Given the description of an element on the screen output the (x, y) to click on. 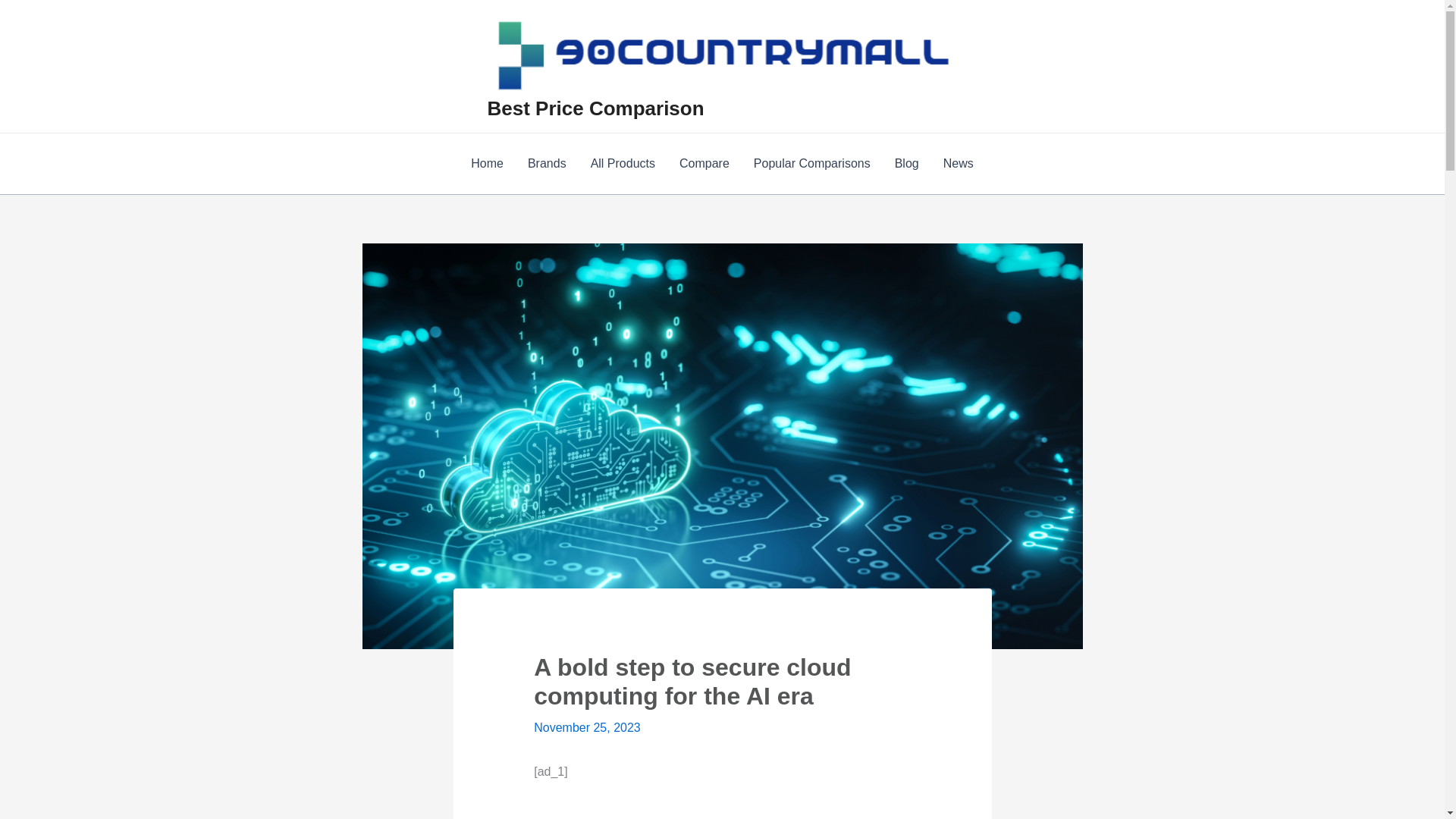
Popular Comparisons (811, 163)
Compare (703, 163)
News (958, 163)
Home (486, 163)
Audio Article (722, 810)
Blog (906, 163)
Best Price Comparison (594, 108)
All Products (622, 163)
Brands (546, 163)
